Given the description of an element on the screen output the (x, y) to click on. 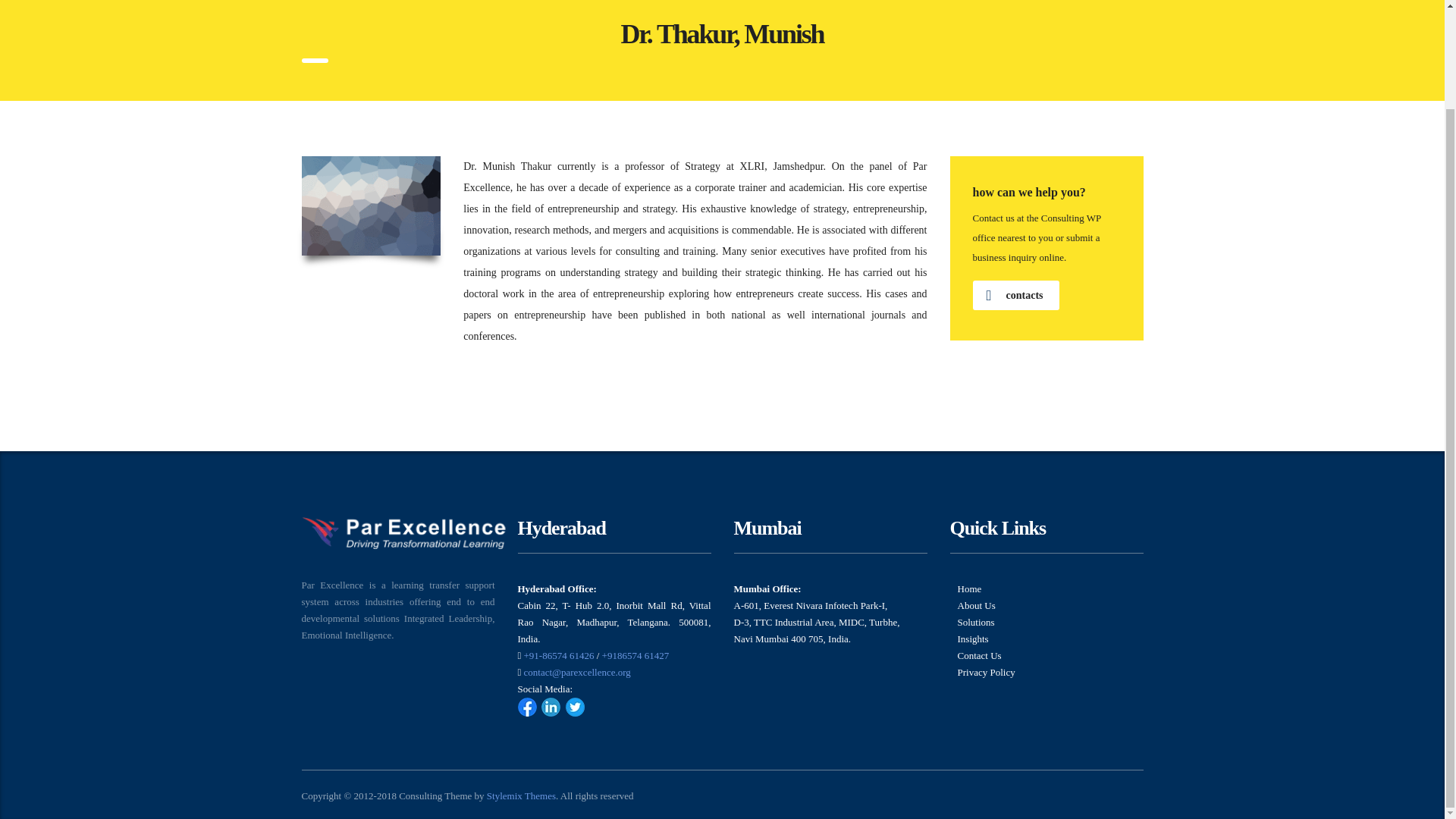
Home (968, 588)
contacts (1015, 295)
